Given the description of an element on the screen output the (x, y) to click on. 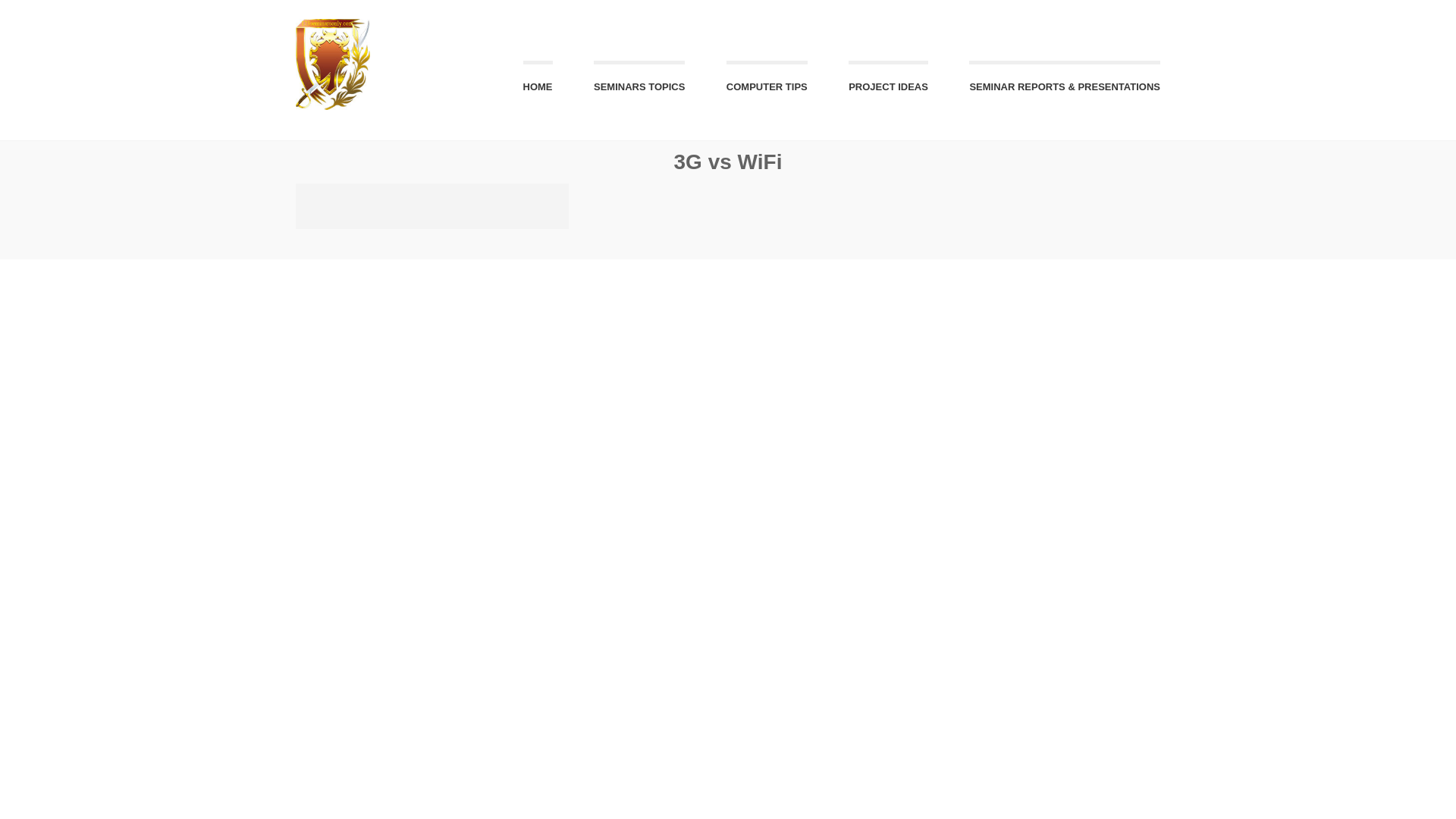
COMPUTER TIPS (767, 81)
Latest Project Ideas (888, 81)
Get Latest Seminars Topics (639, 81)
SEMINARS TOPICS (639, 81)
PROJECT IDEAS (888, 81)
Computer Tips (767, 81)
Download Seminar Reports with PPT (1064, 81)
